Given the description of an element on the screen output the (x, y) to click on. 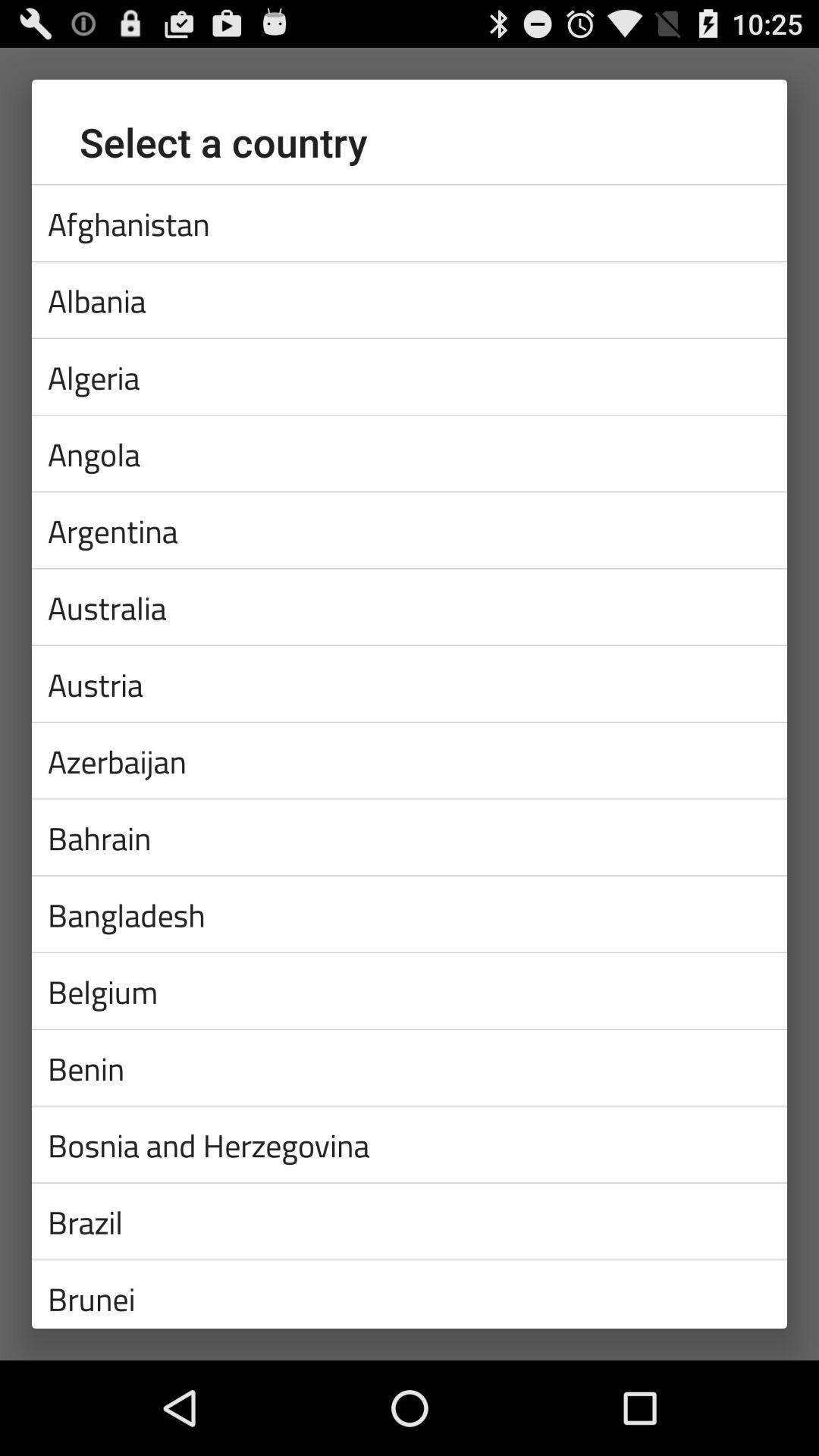
click the argentina (409, 530)
